Given the description of an element on the screen output the (x, y) to click on. 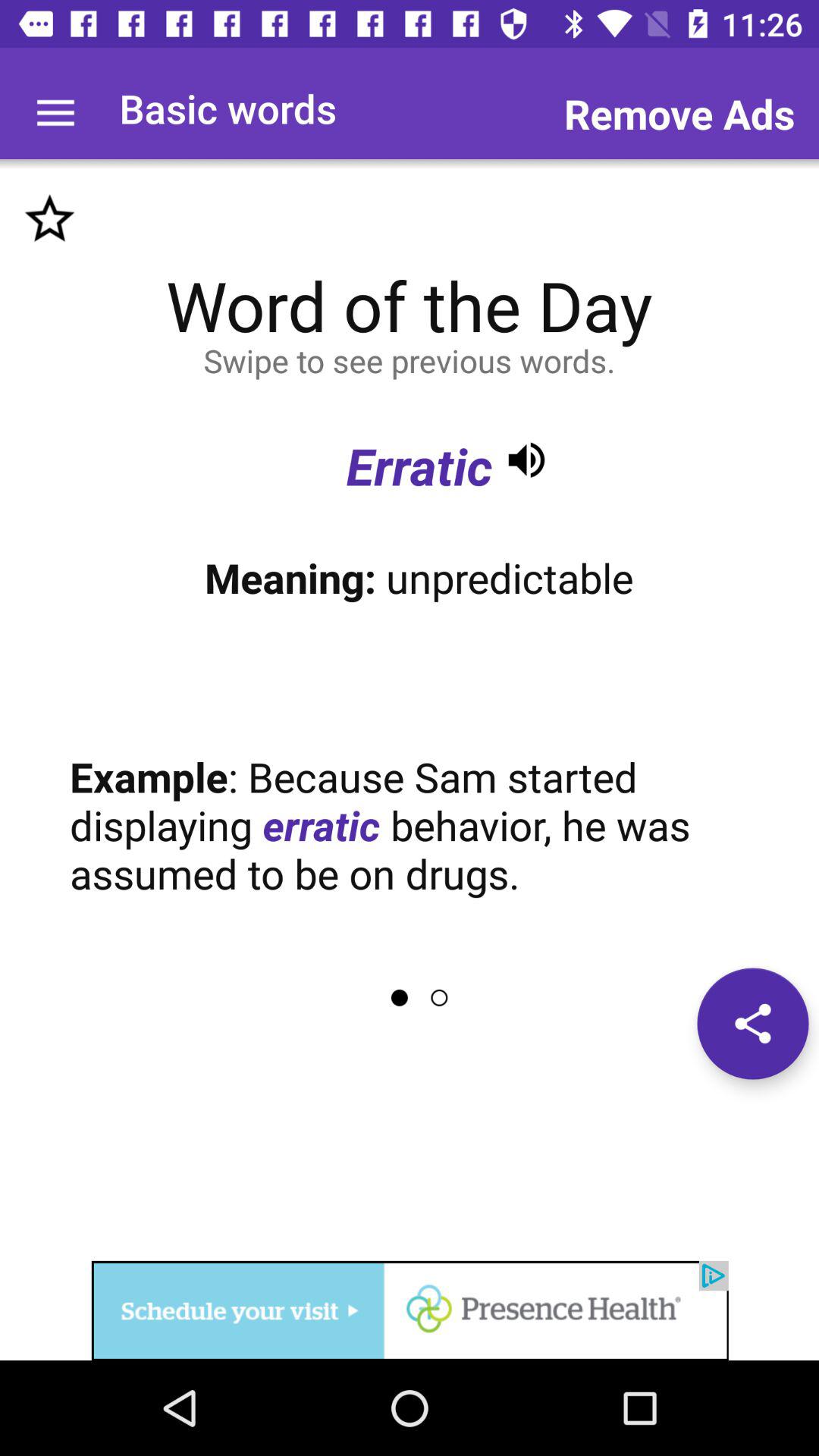
sound button (526, 460)
